Given the description of an element on the screen output the (x, y) to click on. 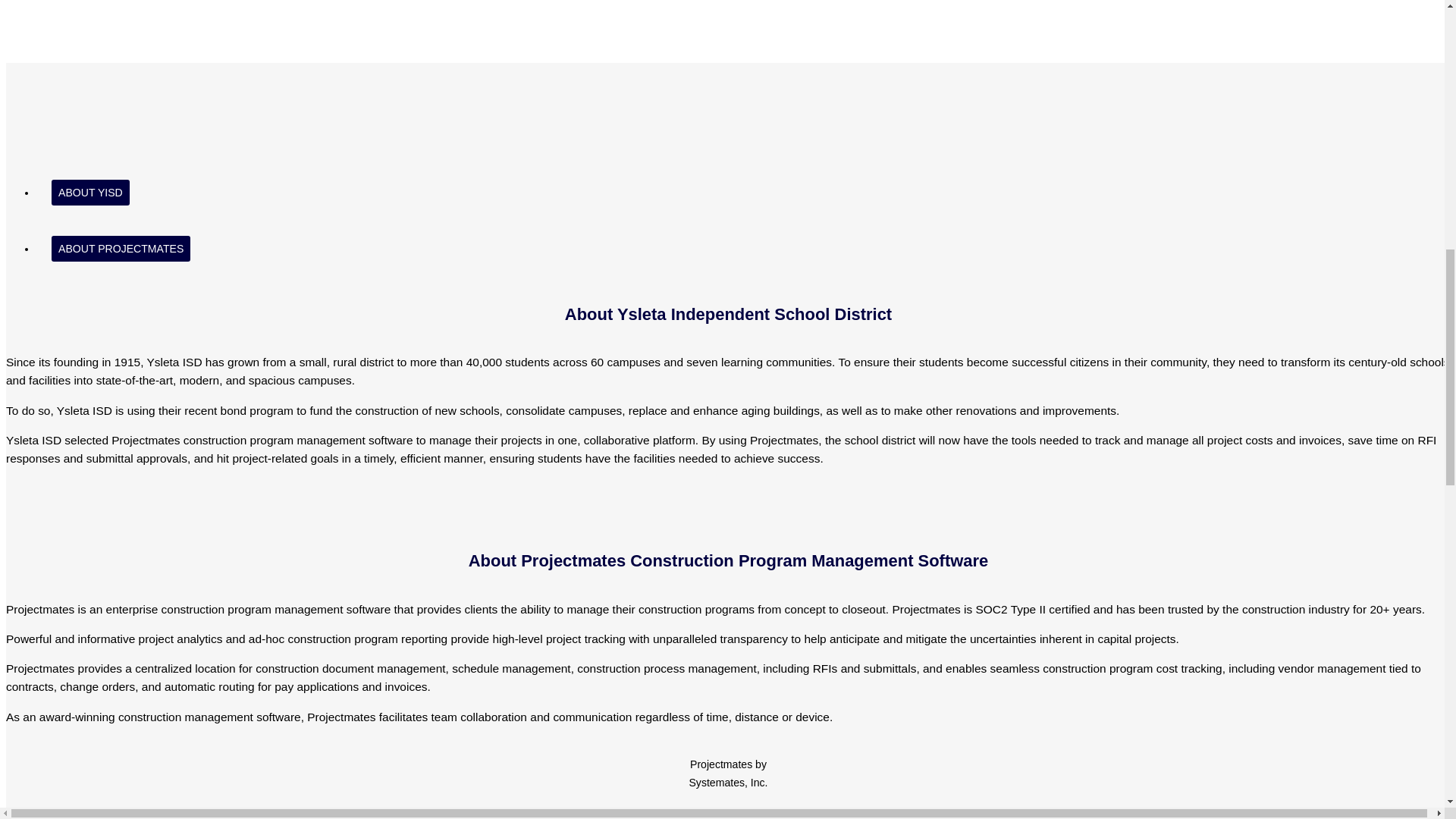
About Ysleta Independent School District (89, 192)
construction document management (350, 667)
ABOUT YISD (89, 192)
About Projectmates (120, 248)
ABOUT PROJECTMATES (120, 248)
project analytics (180, 638)
construction budget management software (1131, 667)
Ysleta Independent School District (727, 313)
construction process management (745, 667)
About Ysleta Independent School District (727, 313)
About Projectmates Construction Program Management Software (728, 560)
Project Management Software for K-12 Construction (728, 560)
construction document management software (350, 667)
construction program cost tracking (1131, 667)
